Given the description of an element on the screen output the (x, y) to click on. 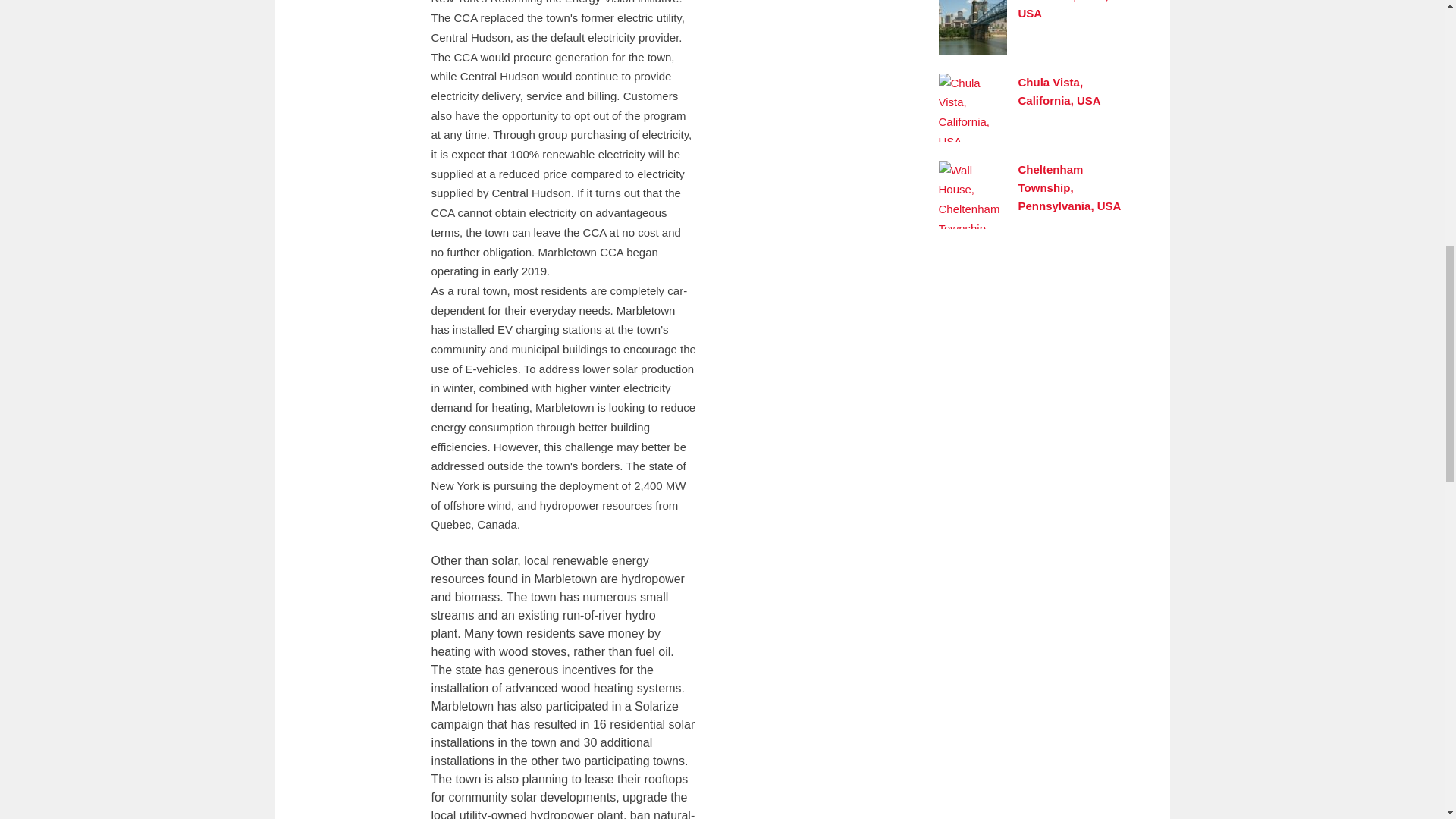
Chula Vista, California, USA (1058, 91)
Cheltenham Township, Pennsylvania, USA (1069, 187)
Cincinnati, Ohio, USA (1062, 9)
